Given the description of an element on the screen output the (x, y) to click on. 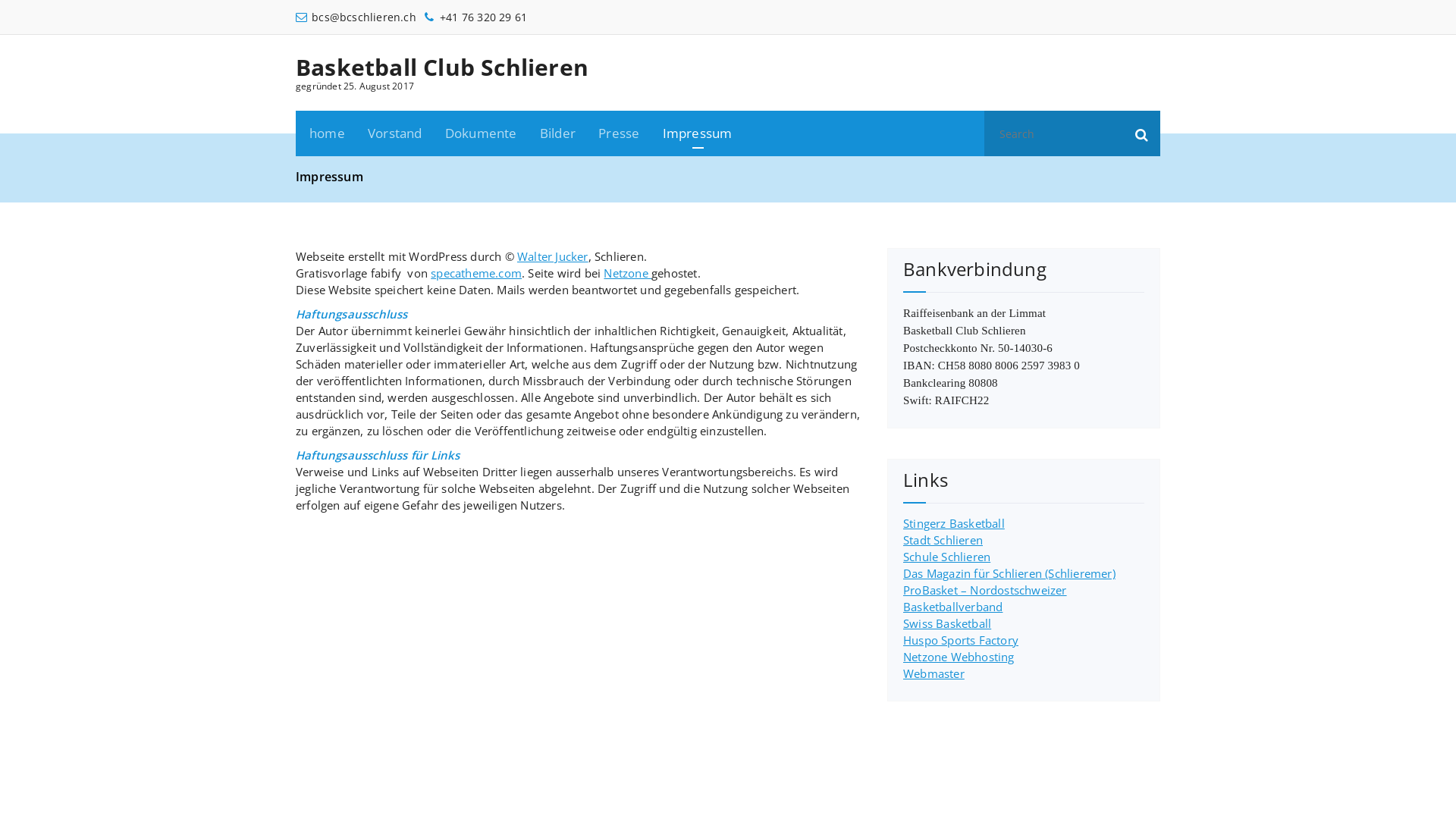
bcs@bcschlieren.ch Element type: text (355, 17)
Walter Jucker Element type: text (552, 255)
Huspo Sports Factory Element type: text (960, 639)
Dokumente Element type: text (480, 133)
Swiss Basketball Element type: text (947, 622)
Netzone Element type: text (627, 272)
Basketball Club Schlieren Element type: text (441, 67)
home Element type: text (326, 133)
Stingerz Basketball Element type: text (953, 522)
+41 76 320 29 61 Element type: text (475, 17)
Webmaster Element type: text (933, 672)
Bilder Element type: text (557, 133)
Netzone Webhosting Element type: text (958, 656)
Vorstand Element type: text (395, 133)
Impressum Element type: text (697, 133)
specatheme.com Element type: text (475, 272)
Schule Schlieren Element type: text (946, 556)
Stadt Schlieren Element type: text (942, 539)
Presse Element type: text (618, 133)
